Given the description of an element on the screen output the (x, y) to click on. 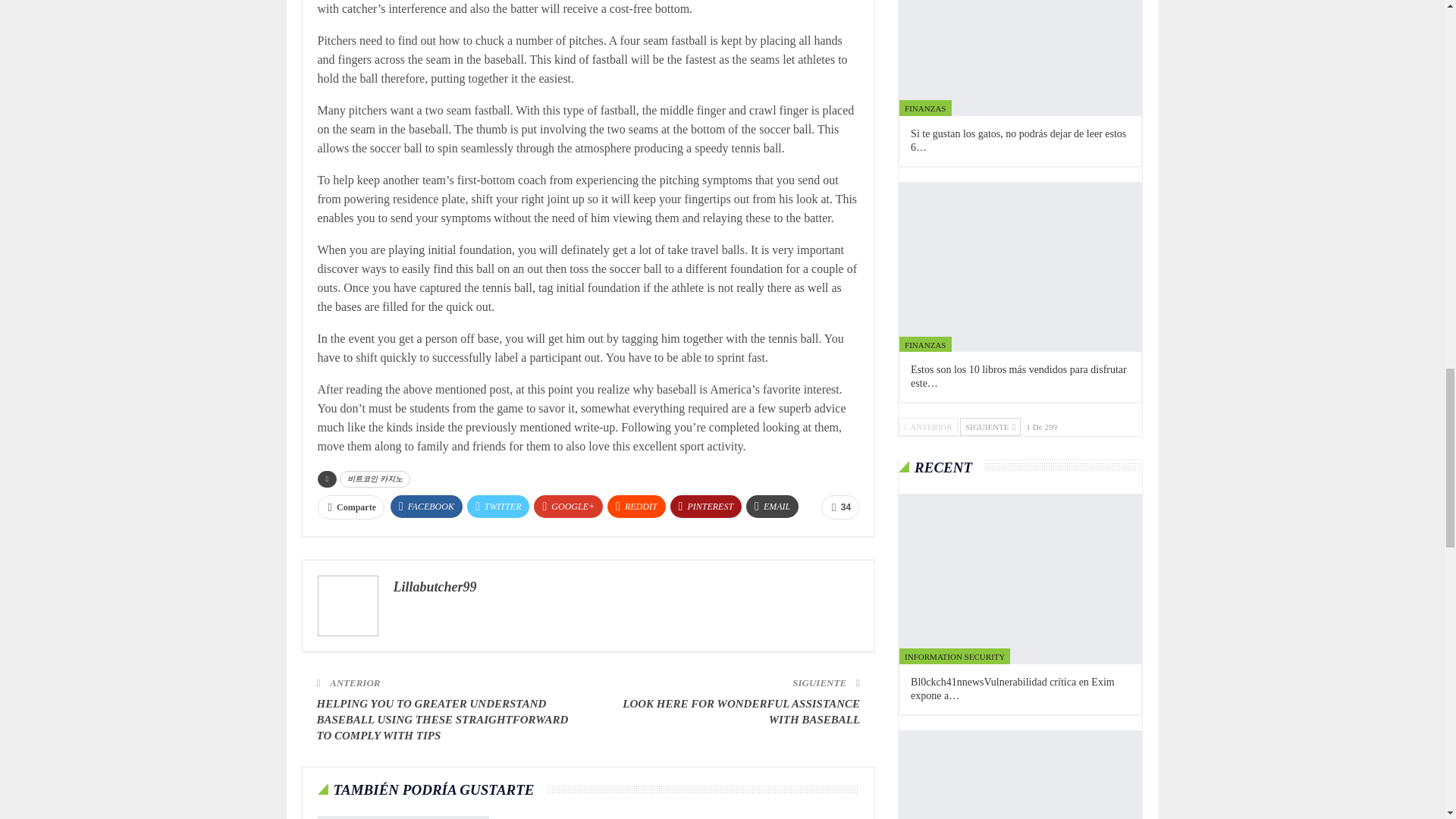
TWITTER (498, 506)
EMAIL (771, 506)
Whatever You Have Always Aspired To Find Out About Football (402, 817)
REDDIT (636, 506)
PINTEREST (705, 506)
FACEBOOK (426, 506)
Lillabutcher99 (434, 586)
